Given the description of an element on the screen output the (x, y) to click on. 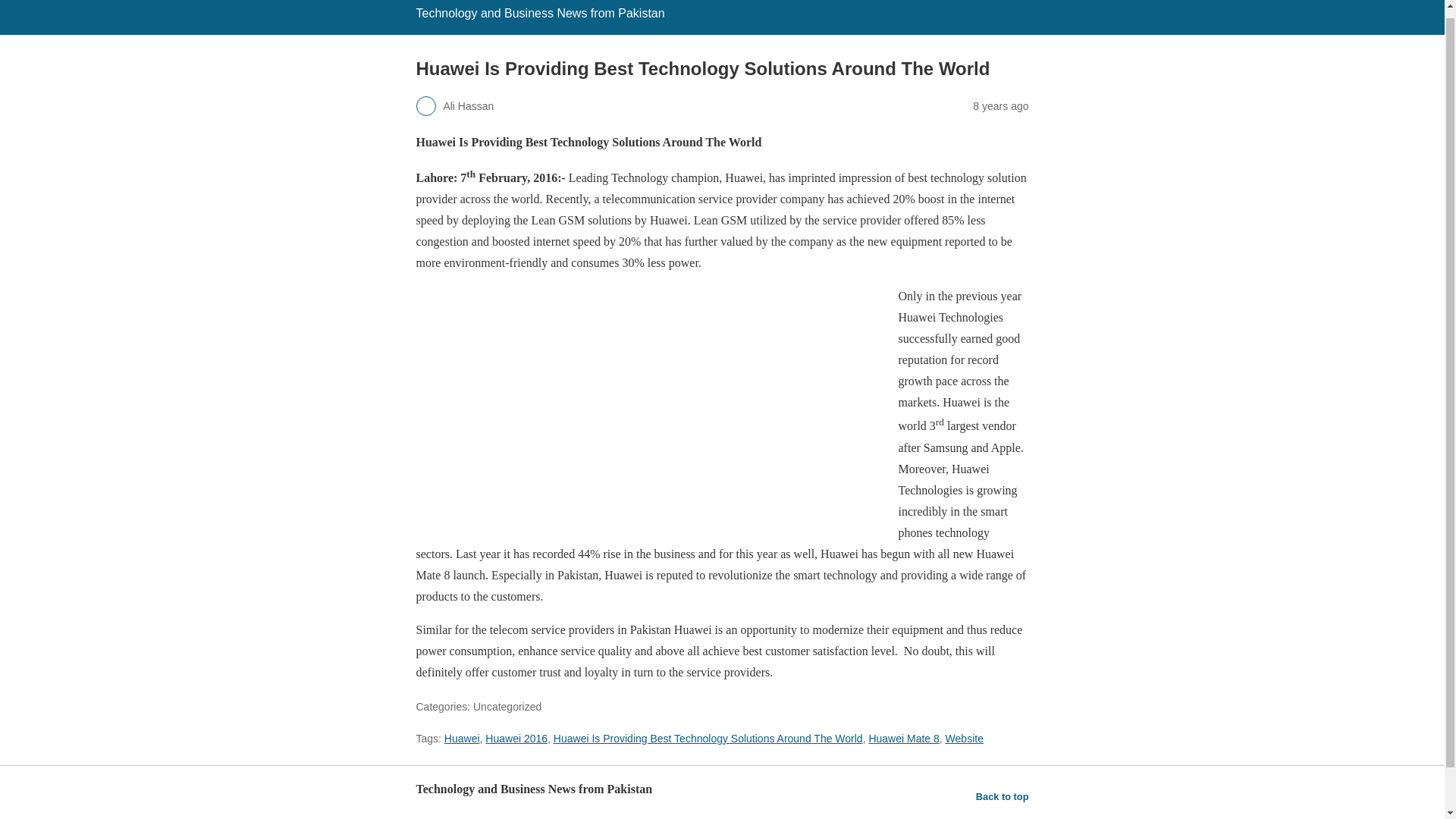
Technology and Business News from Pakistan (538, 12)
Huawei Mate 8 (903, 738)
Website (964, 738)
Huawei (462, 738)
Huawei 2016 (515, 738)
Back to top (1002, 796)
